Given the description of an element on the screen output the (x, y) to click on. 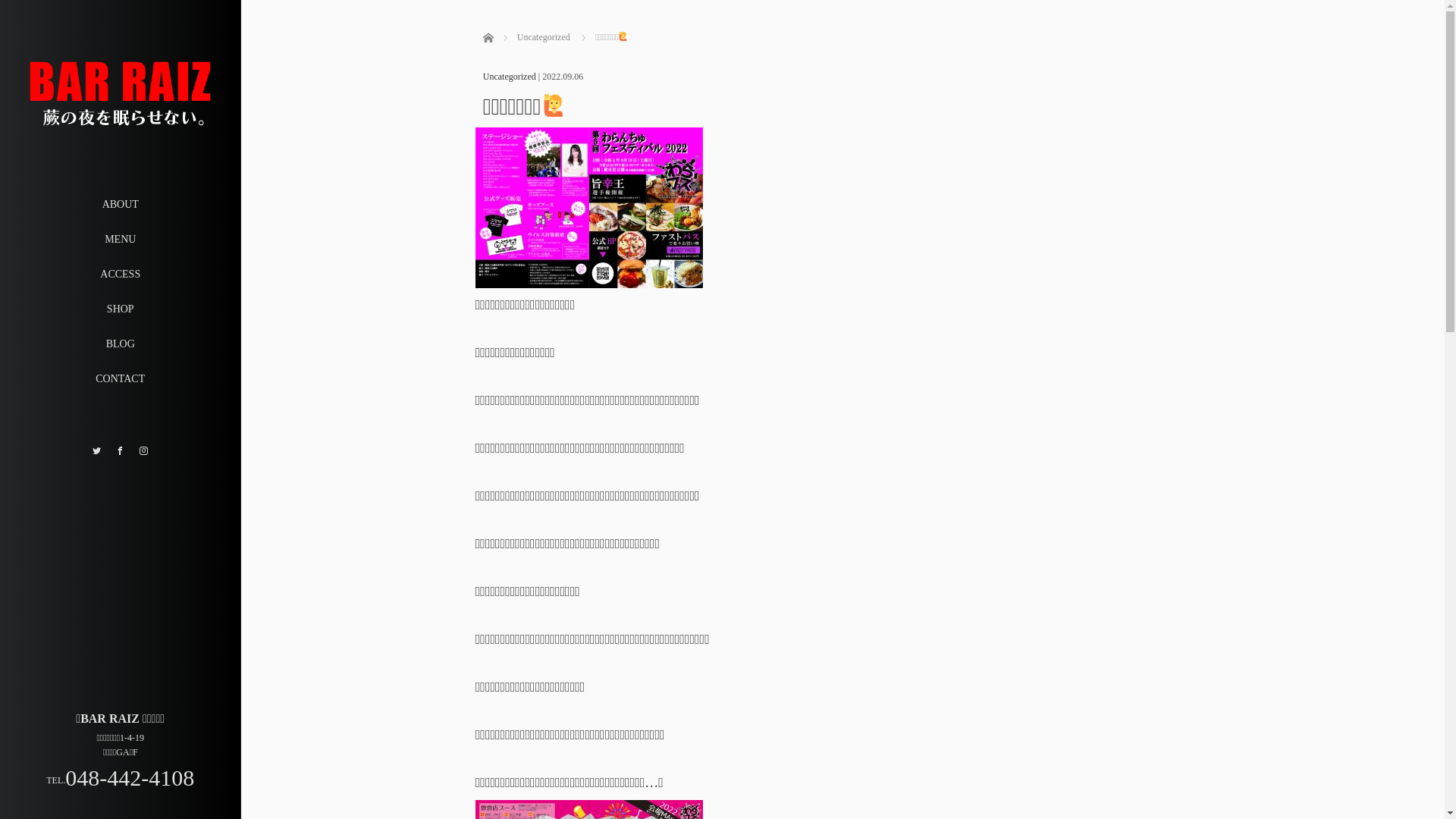
ACCESS Element type: text (120, 274)
ABOUT Element type: text (120, 204)
BLOG Element type: text (120, 343)
Twitter Element type: text (96, 450)
MENU Element type: text (120, 239)
Uncategorized Element type: text (543, 36)
Instagram Element type: text (143, 450)
Facebook Element type: text (119, 450)
Uncategorized Element type: text (509, 76)
SHOP Element type: text (120, 308)
CONTACT Element type: text (120, 378)
